Given the description of an element on the screen output the (x, y) to click on. 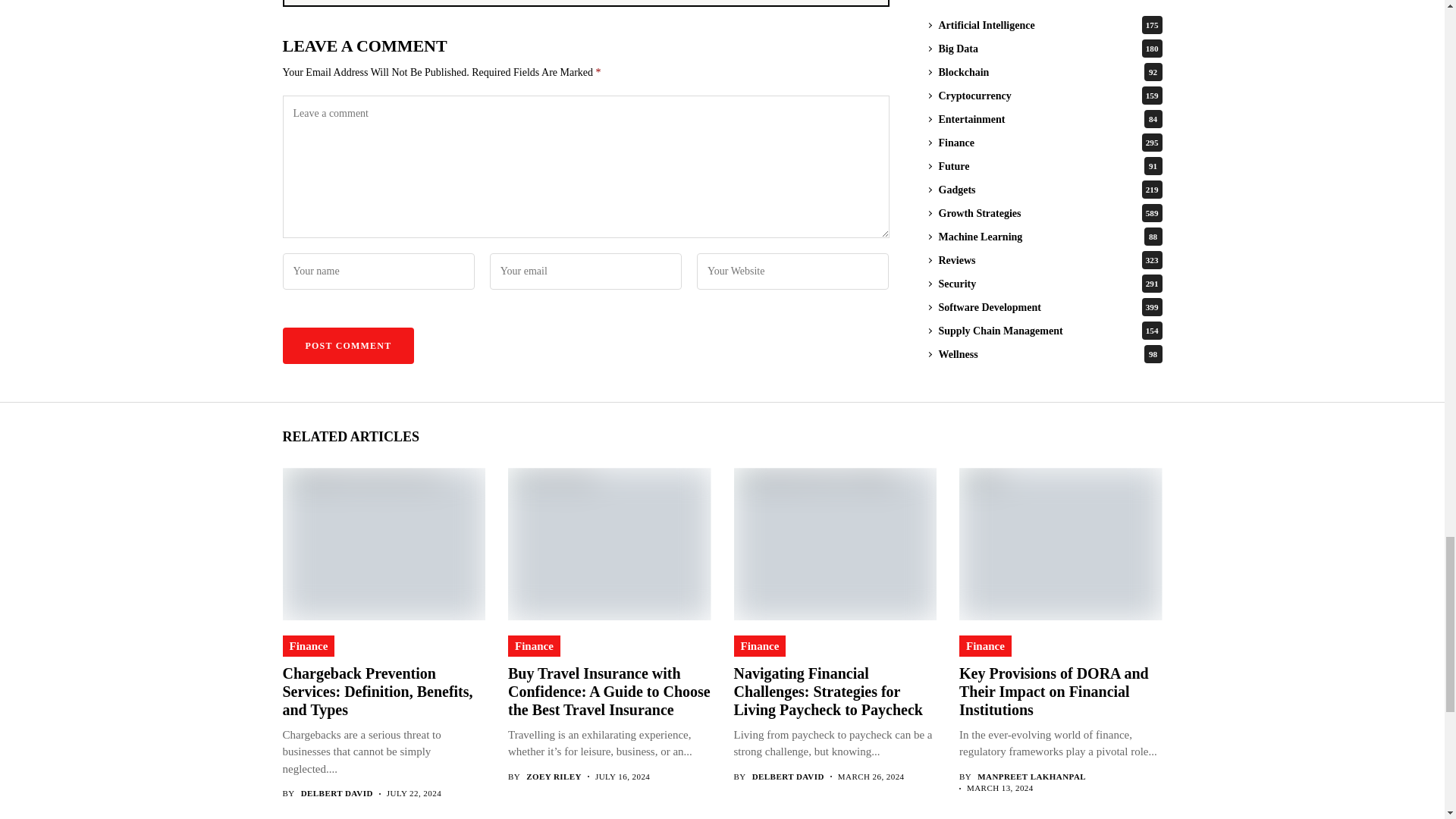
Posts by Delbert David (788, 777)
Posts by Manpreet Lakhanpal (1031, 777)
Posts by Delbert David (336, 793)
Posts by Zoey Riley (552, 777)
Post Comment (347, 345)
